Given the description of an element on the screen output the (x, y) to click on. 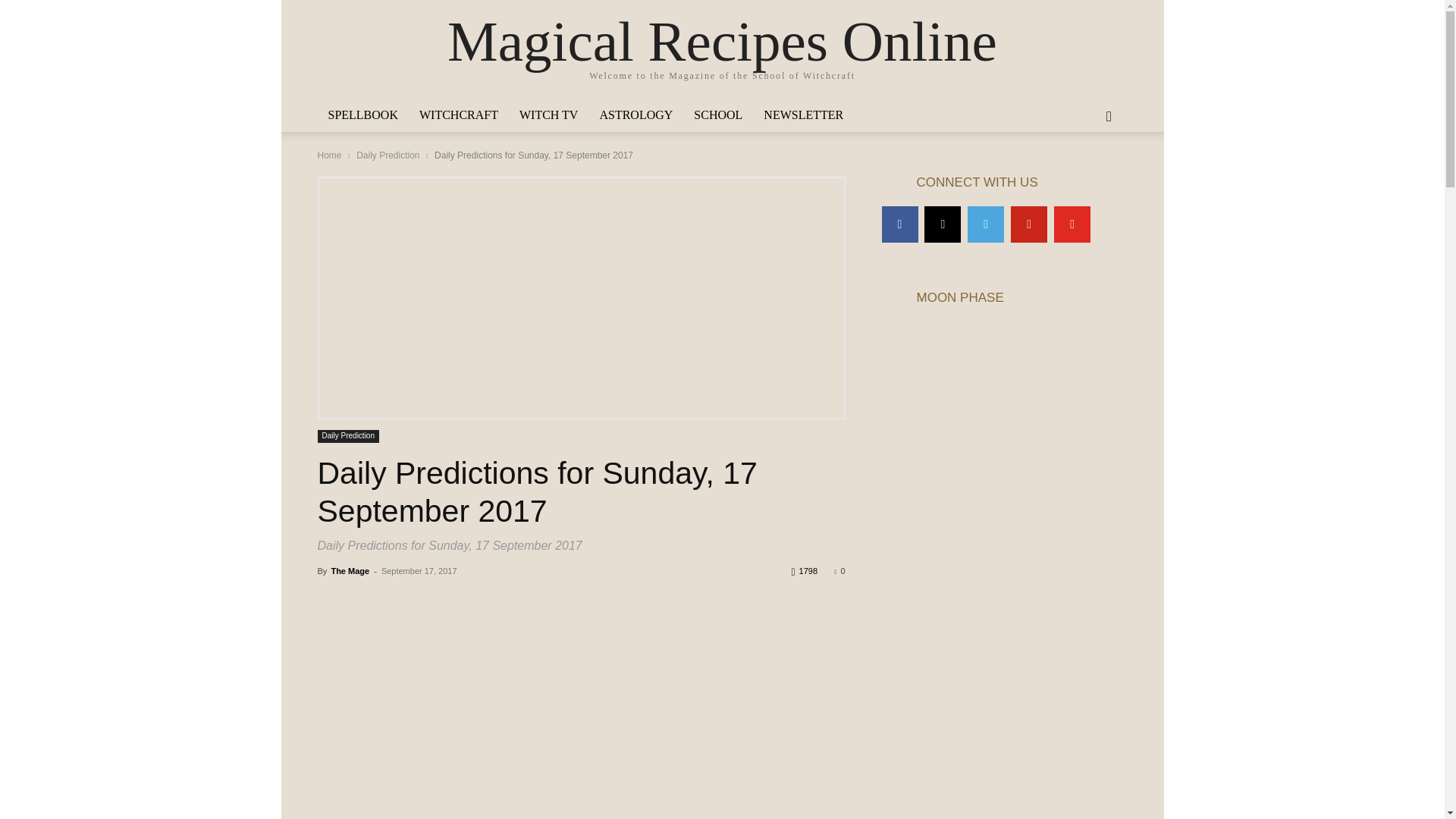
WITCHCRAFT (458, 114)
SPELLBOOK (362, 114)
Daily Prediction (387, 154)
View all posts in Daily Prediction (387, 154)
Daily Prediction (347, 436)
0 (839, 570)
Facebook (898, 224)
The Mage (349, 570)
WITCH TV (548, 114)
Magical Recipes Online (721, 41)
